Given the description of an element on the screen output the (x, y) to click on. 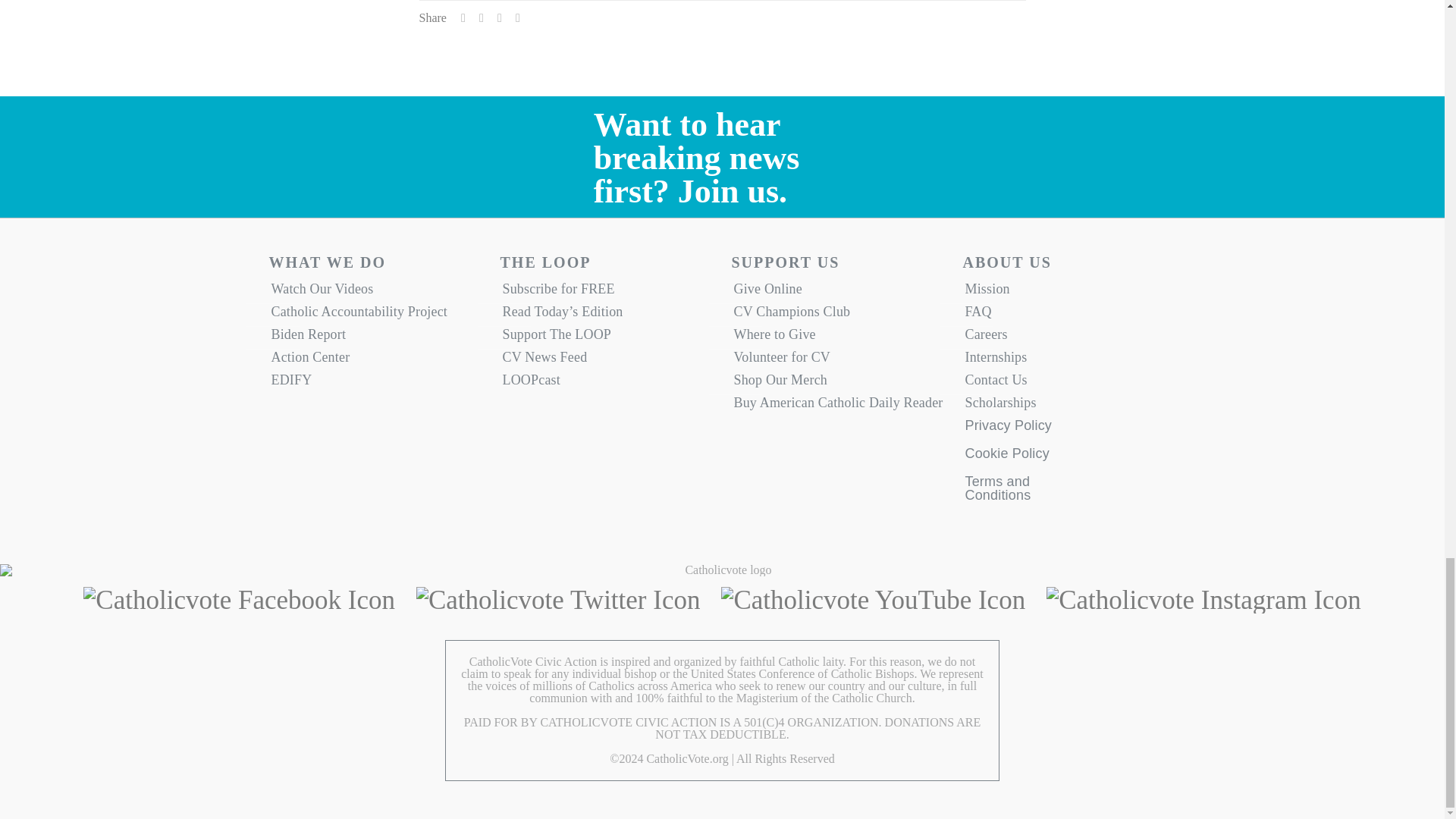
CV News Feed (606, 360)
YouTube (872, 600)
Terms and Conditions  (1007, 488)
Cookie Policy  (1007, 459)
Subscribe for FREE (606, 292)
Instagram (1202, 600)
Action Center (374, 360)
Biden Report (374, 337)
Facebook (238, 600)
EDIFY (374, 383)
Privacy Policy  (1007, 431)
Twitter (558, 600)
LOOPcast (606, 383)
Catholic Accountability Project (374, 314)
Watch Our Videos (374, 292)
